Given the description of an element on the screen output the (x, y) to click on. 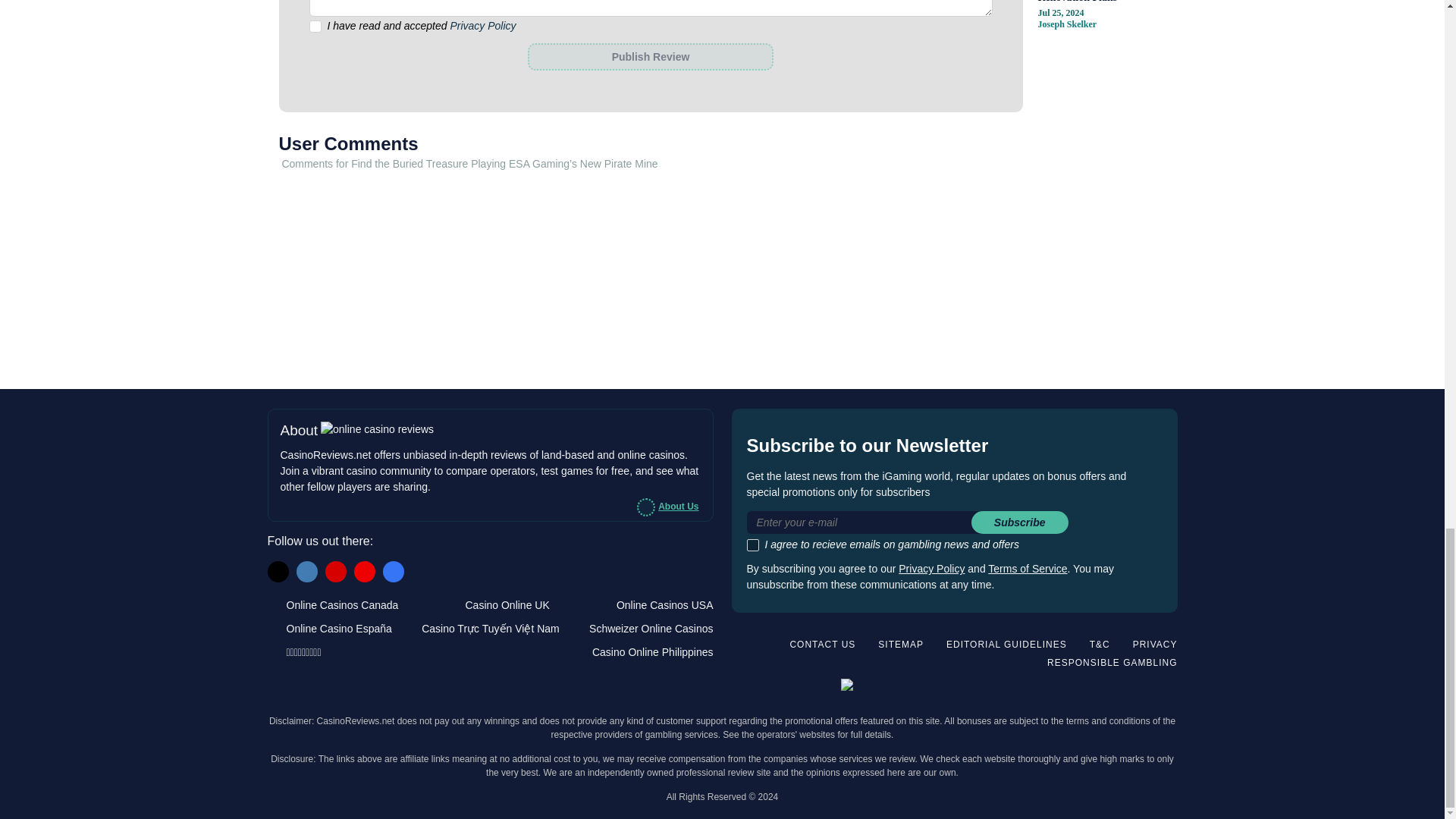
DMCA.com Protection Status (1126, 688)
Publish Review (650, 56)
Subscribe (1019, 522)
